Given the description of an element on the screen output the (x, y) to click on. 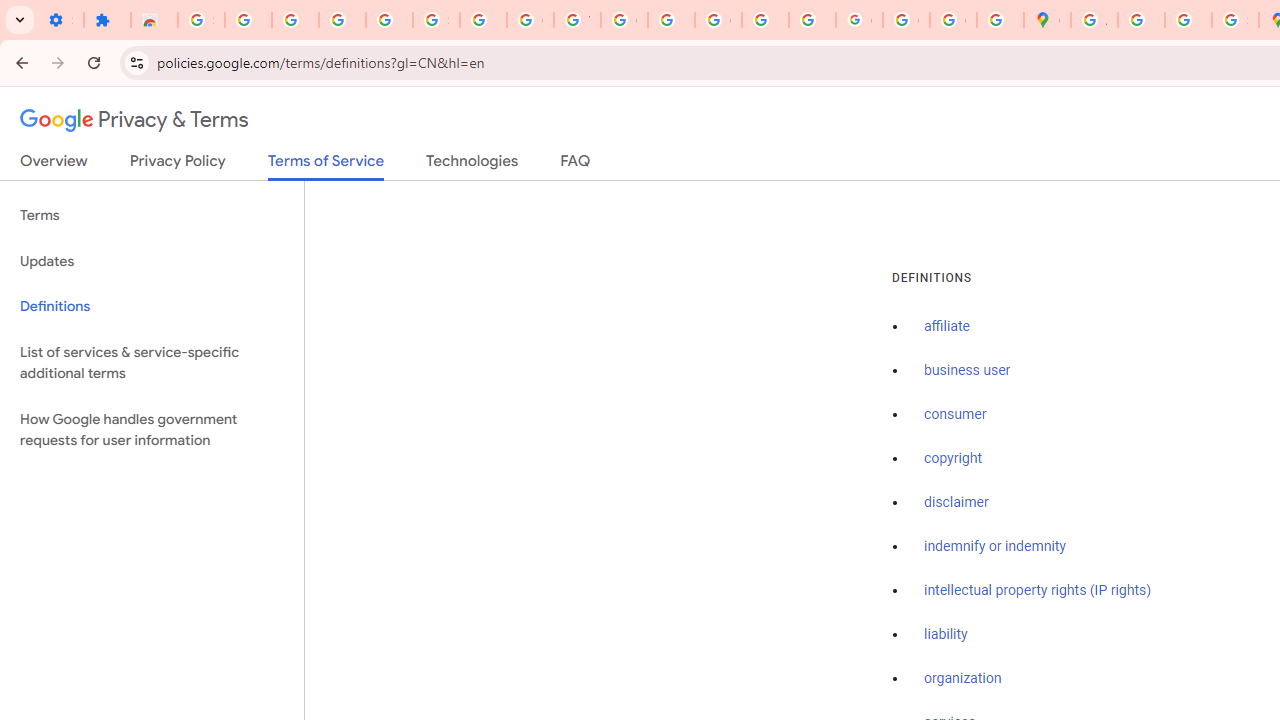
https://scholar.google.com/ (671, 20)
Google Maps (1047, 20)
Safety in Our Products - Google Safety Center (1235, 20)
Reviews: Helix Fruit Jump Arcade Game (153, 20)
indemnify or indemnity (995, 546)
organization (963, 679)
